Given the description of an element on the screen output the (x, y) to click on. 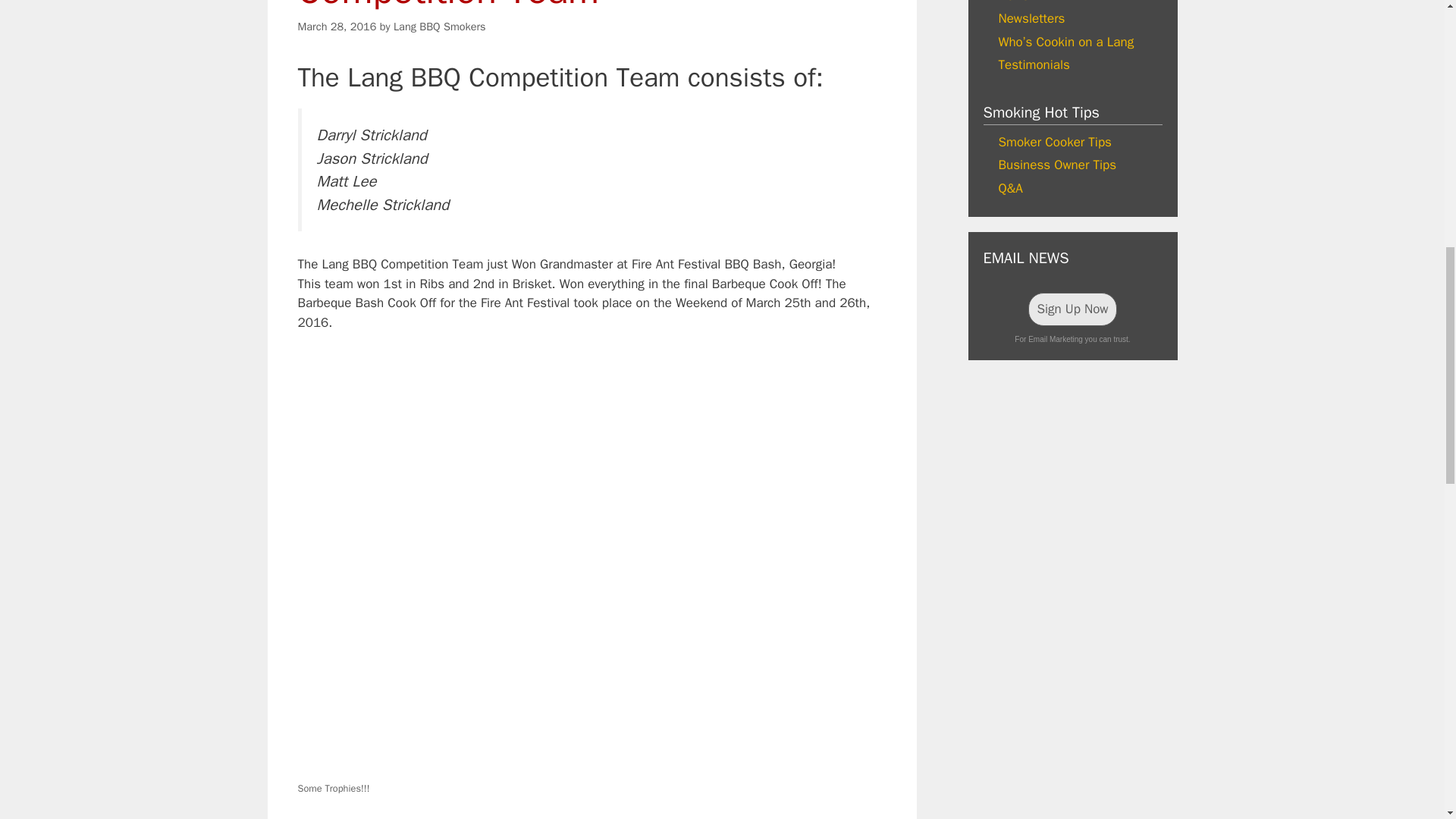
View all posts by Lang BBQ Smokers (439, 26)
Testimonials (1032, 64)
Lang BBQ Smokers (439, 26)
News (1012, 2)
Newsletters (1030, 18)
Smoker Cooker Tips (1053, 141)
